Given the description of an element on the screen output the (x, y) to click on. 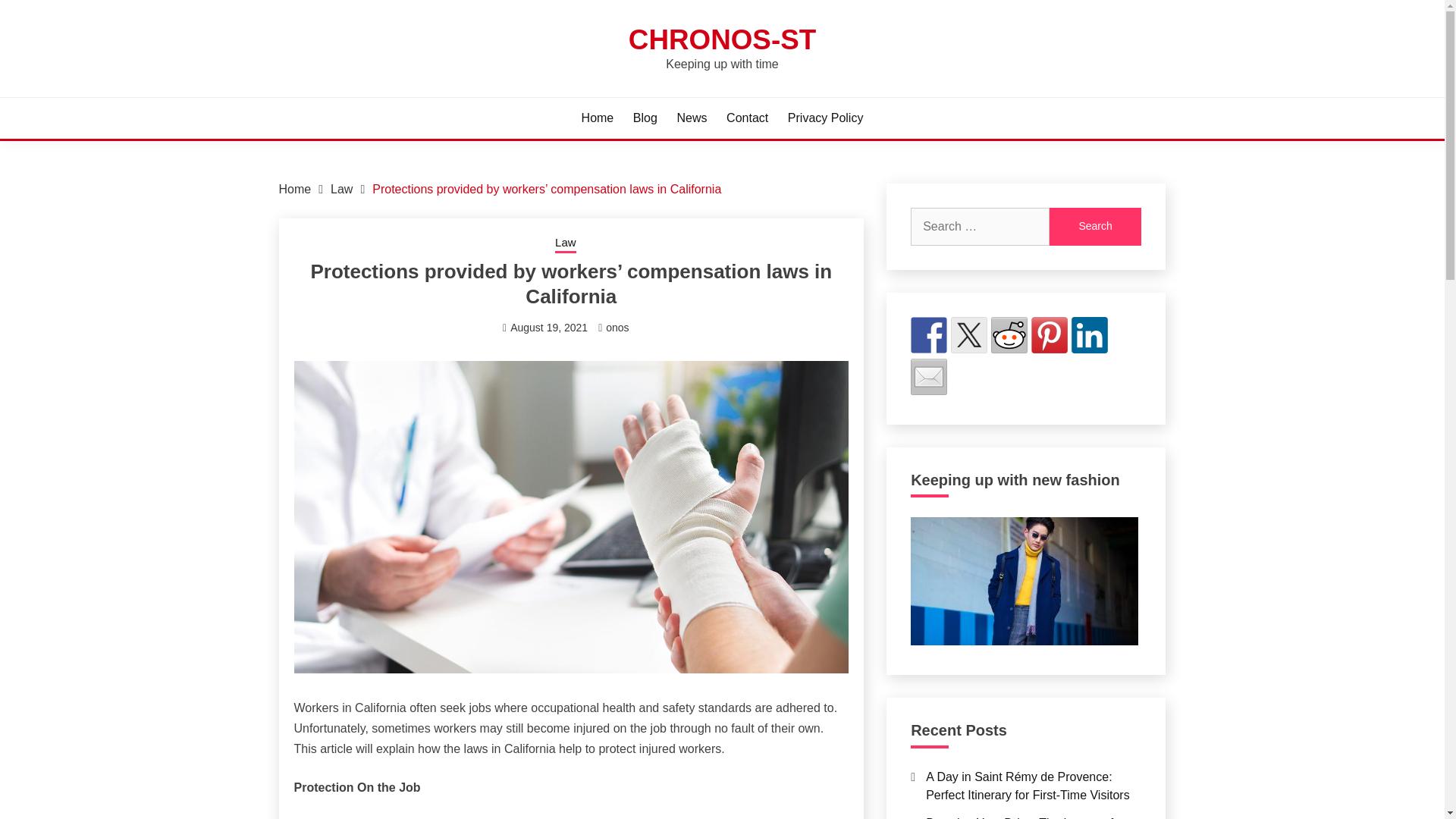
August 19, 2021 (549, 327)
Blog (645, 117)
Privacy Policy (825, 117)
CHRONOS-ST (721, 39)
Share on Reddit (1009, 334)
Law (565, 243)
Search (1095, 226)
Share on Facebook (929, 334)
Share on Twitter (968, 334)
Search (1095, 226)
Home (597, 117)
Contact (747, 117)
Share on Linkedin (1089, 334)
Home (295, 188)
